Given the description of an element on the screen output the (x, y) to click on. 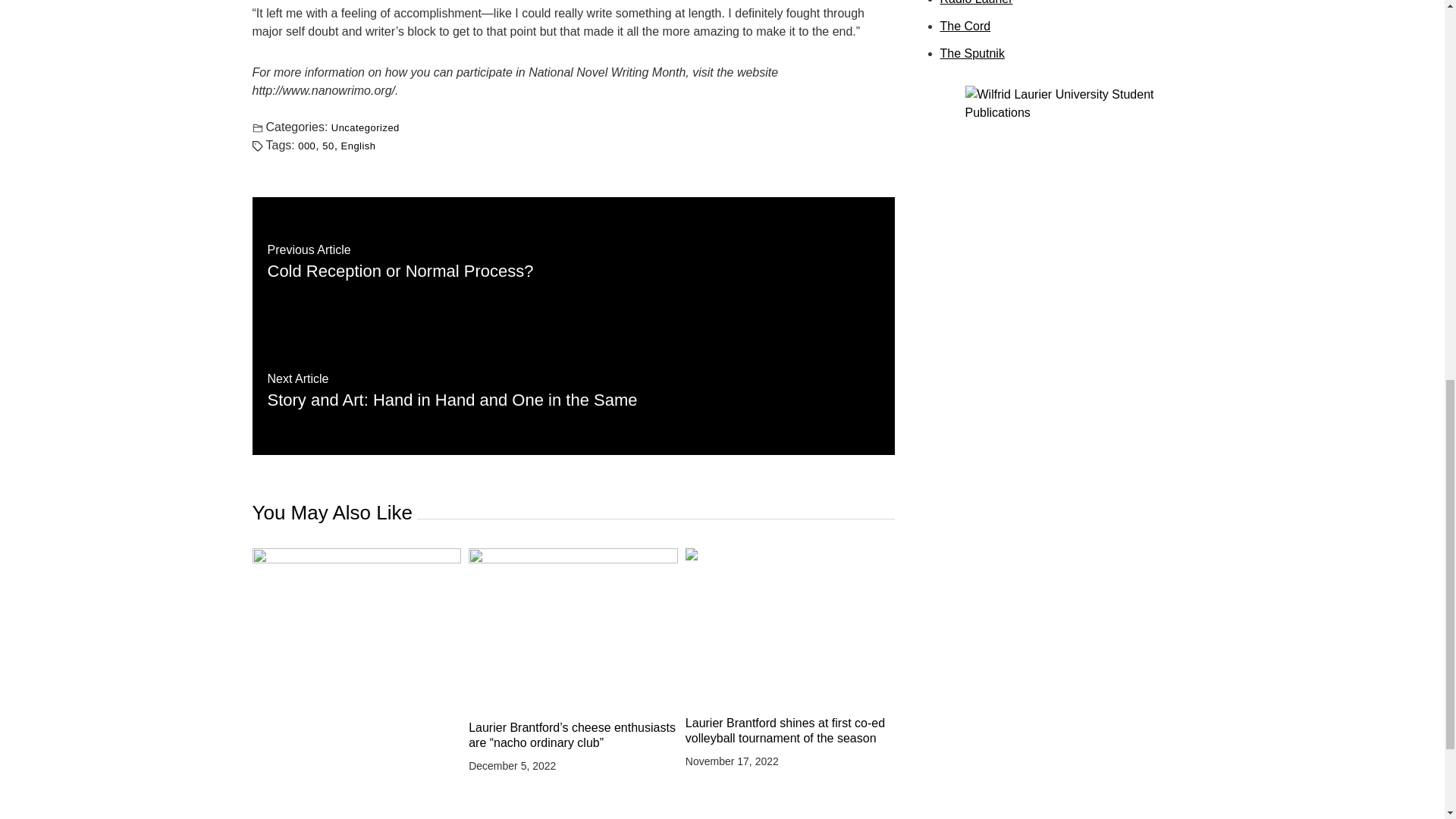
000 (306, 144)
50 (572, 390)
English (327, 144)
Uncategorized (357, 144)
